Given the description of an element on the screen output the (x, y) to click on. 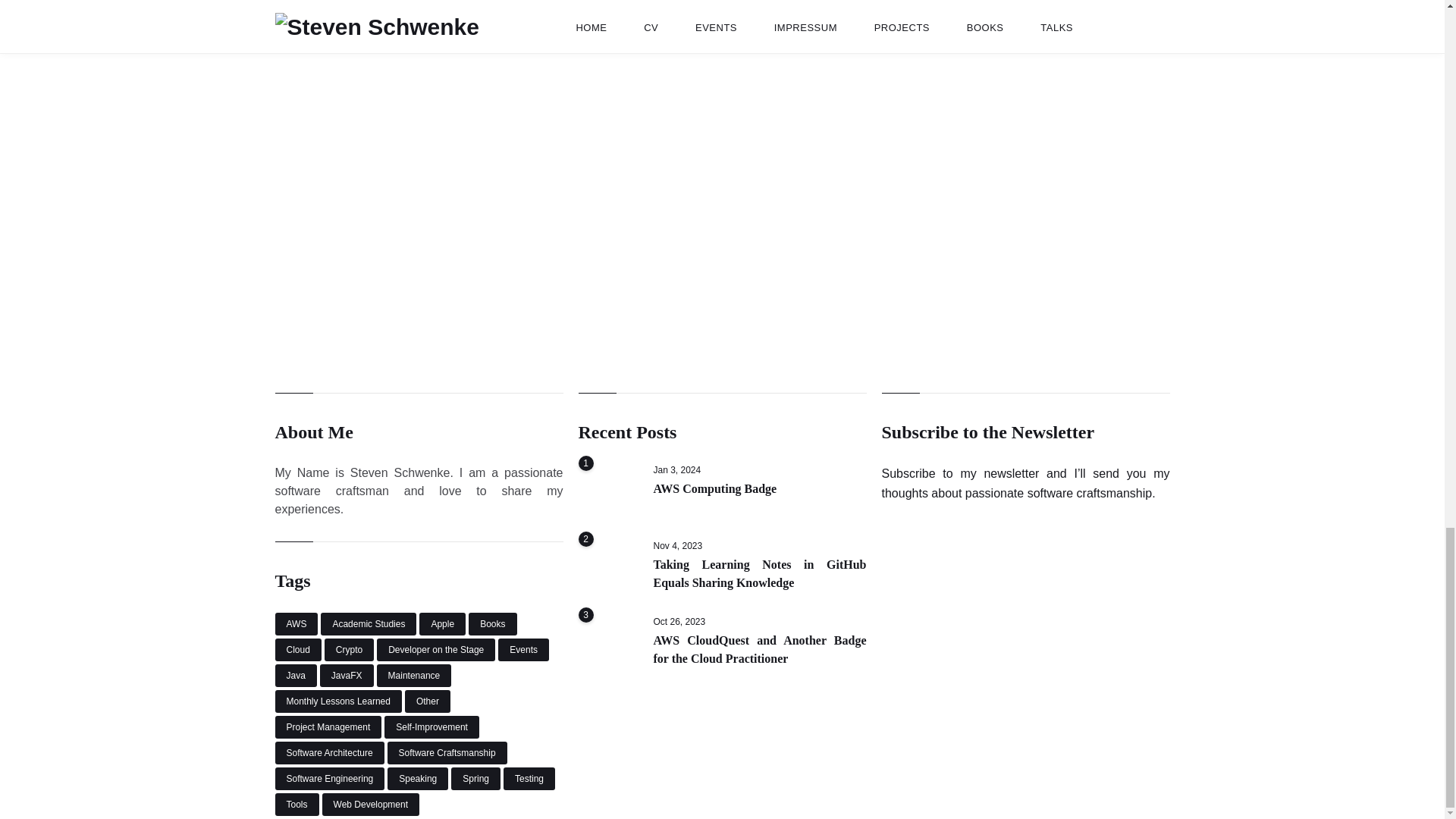
Apple (442, 623)
Books (492, 623)
Events (522, 649)
Cloud (297, 649)
Academic Studies (368, 623)
AWS (296, 623)
Developer on the Stage (436, 649)
Crypto (349, 649)
